Given the description of an element on the screen output the (x, y) to click on. 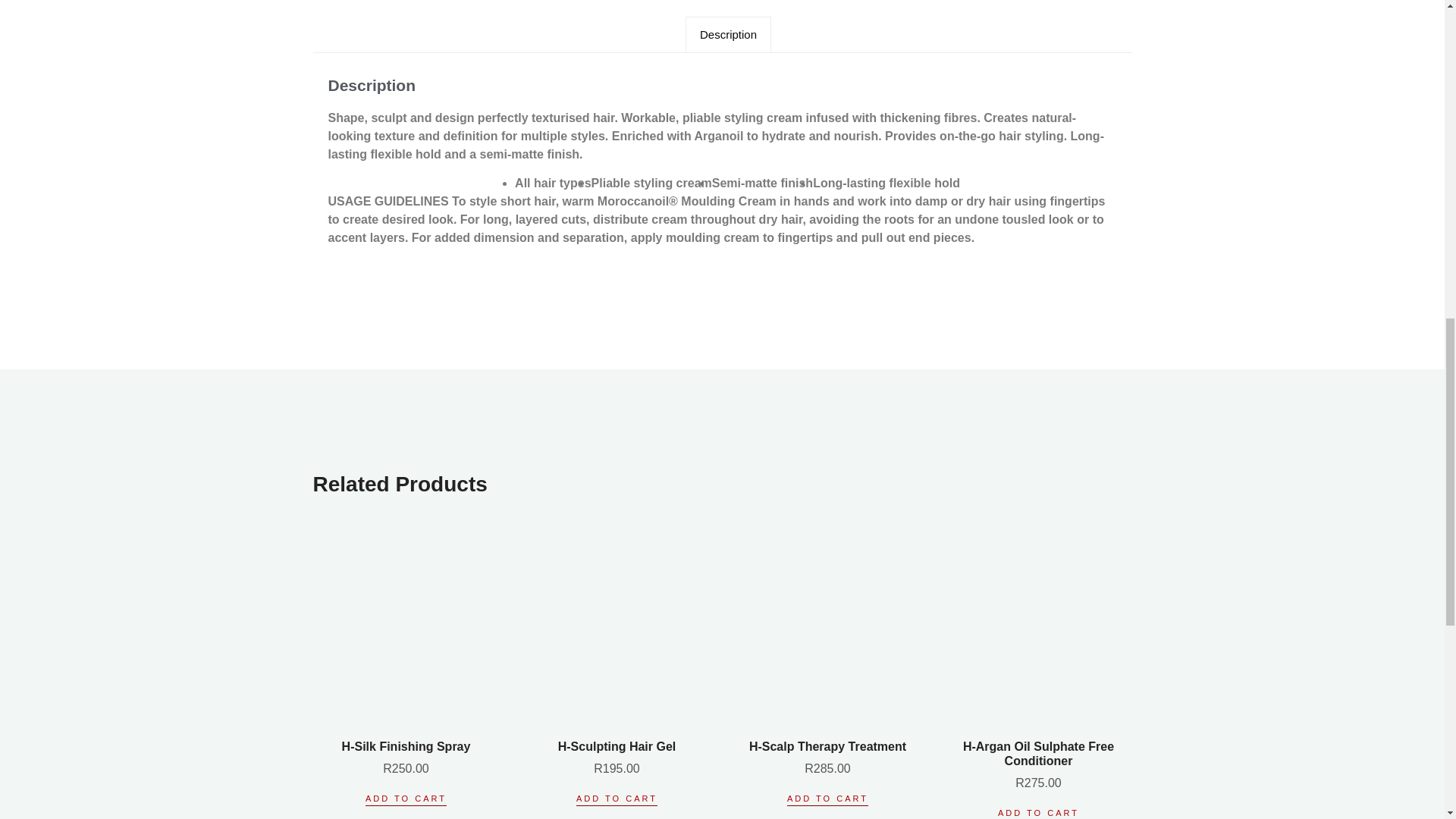
ADD TO CART (827, 798)
ADD TO CART (1037, 812)
Description (727, 35)
ADD TO CART (617, 798)
ADD TO CART (405, 798)
